Given the description of an element on the screen output the (x, y) to click on. 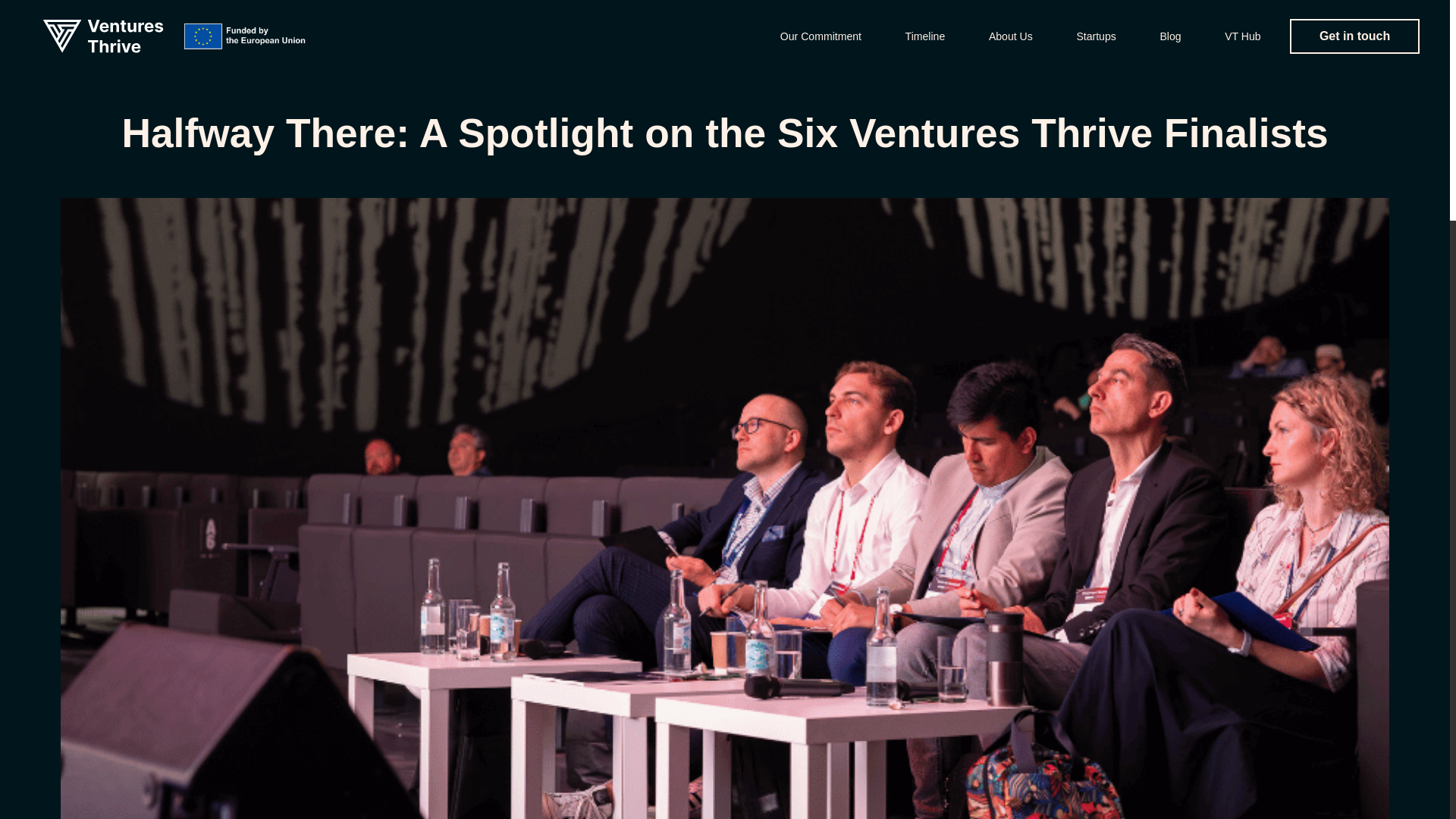
Startups (1095, 36)
Get in touch (1354, 36)
Our Commitment (820, 36)
Blog (1169, 36)
About Us (1010, 36)
VT Hub (1242, 36)
Timeline (924, 36)
